Given the description of an element on the screen output the (x, y) to click on. 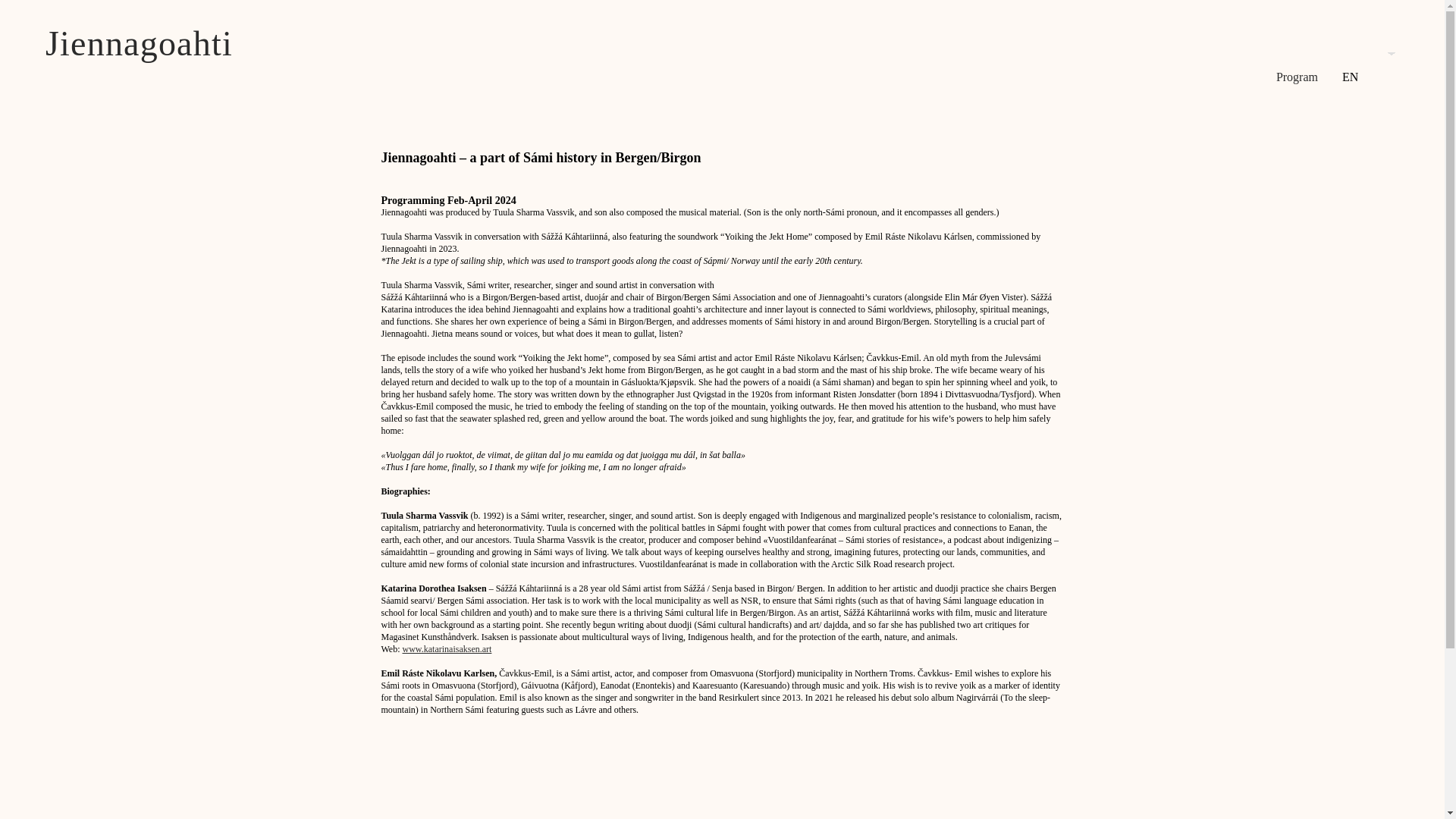
Page 5 (721, 648)
Program (1296, 76)
EN (1360, 65)
www.katarinaisaksen.art (447, 648)
Jiennagoahti (138, 43)
Page 5 (721, 691)
English (1360, 65)
